Given the description of an element on the screen output the (x, y) to click on. 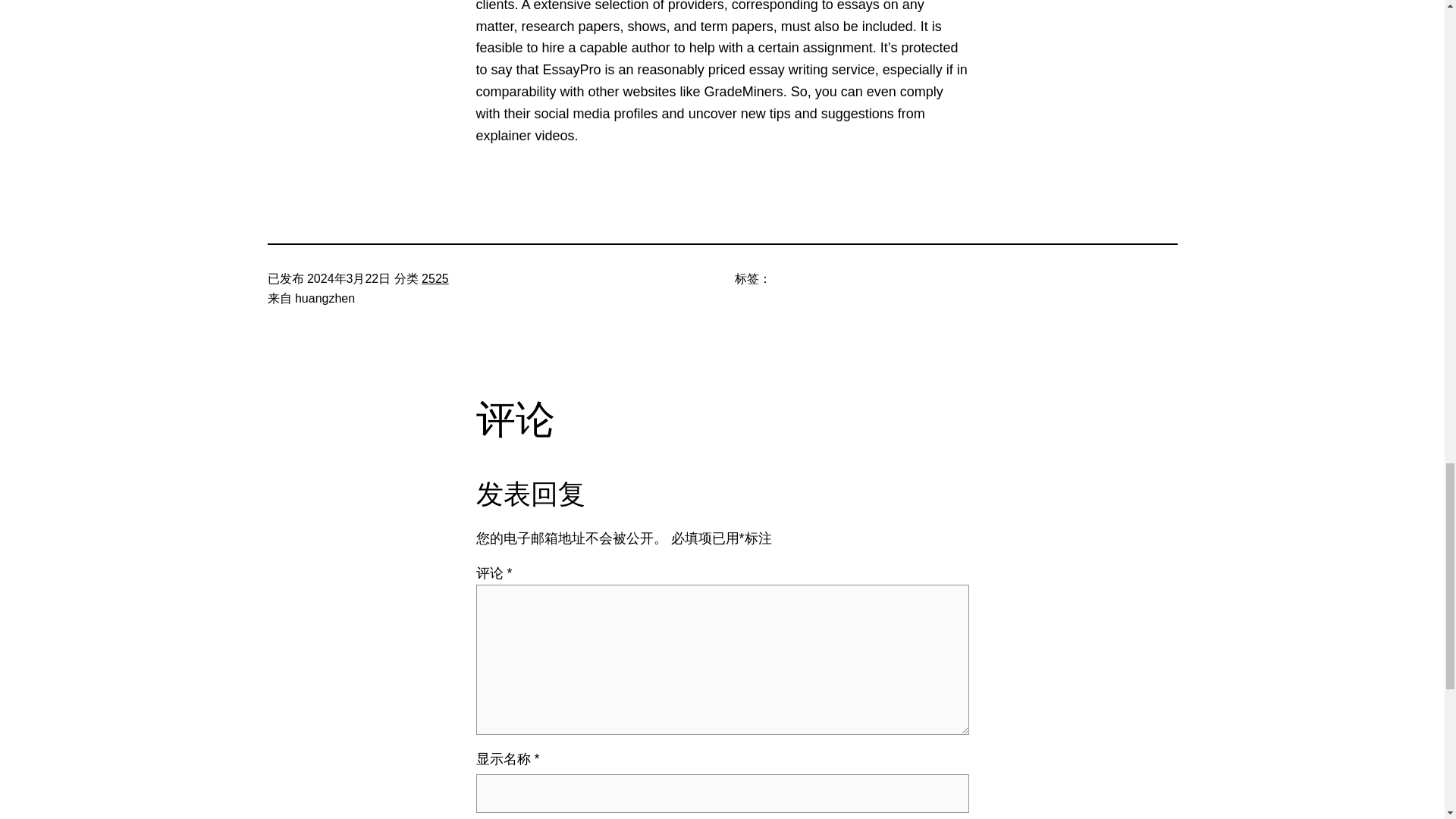
2525 (435, 278)
